Given the description of an element on the screen output the (x, y) to click on. 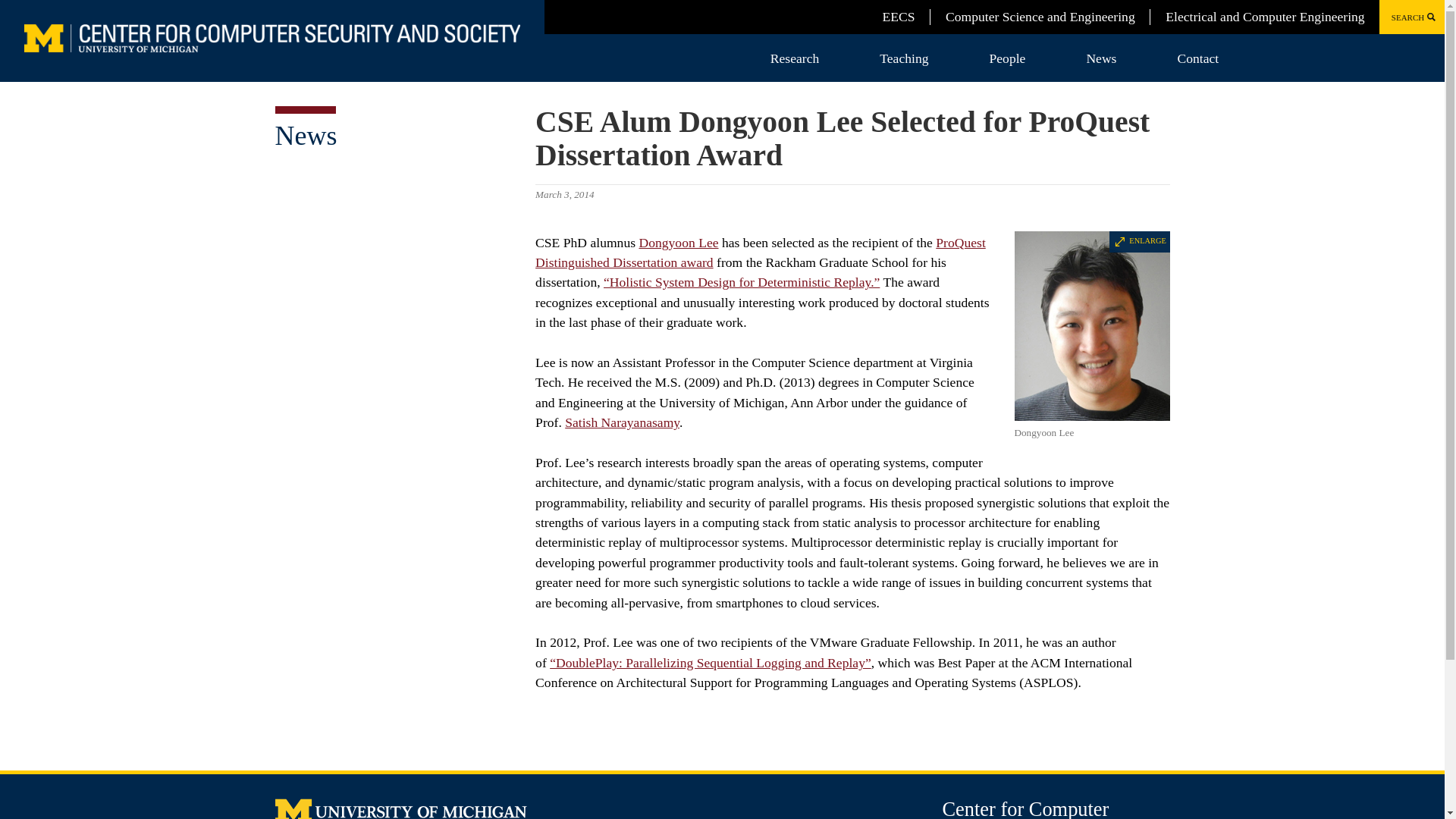
Satish Narayanasamy (621, 421)
Electrical and Computer Engineering (1265, 16)
EECS (898, 16)
Teaching (903, 57)
Contact (1197, 57)
Computer Science and Engineering (1039, 16)
Dongyoon Lee (678, 242)
People (1006, 57)
ProQuest Distinguished Dissertation award (760, 252)
Center for Computer Security and Society (1025, 808)
News (305, 135)
News (1101, 57)
Research (794, 57)
